Given the description of an element on the screen output the (x, y) to click on. 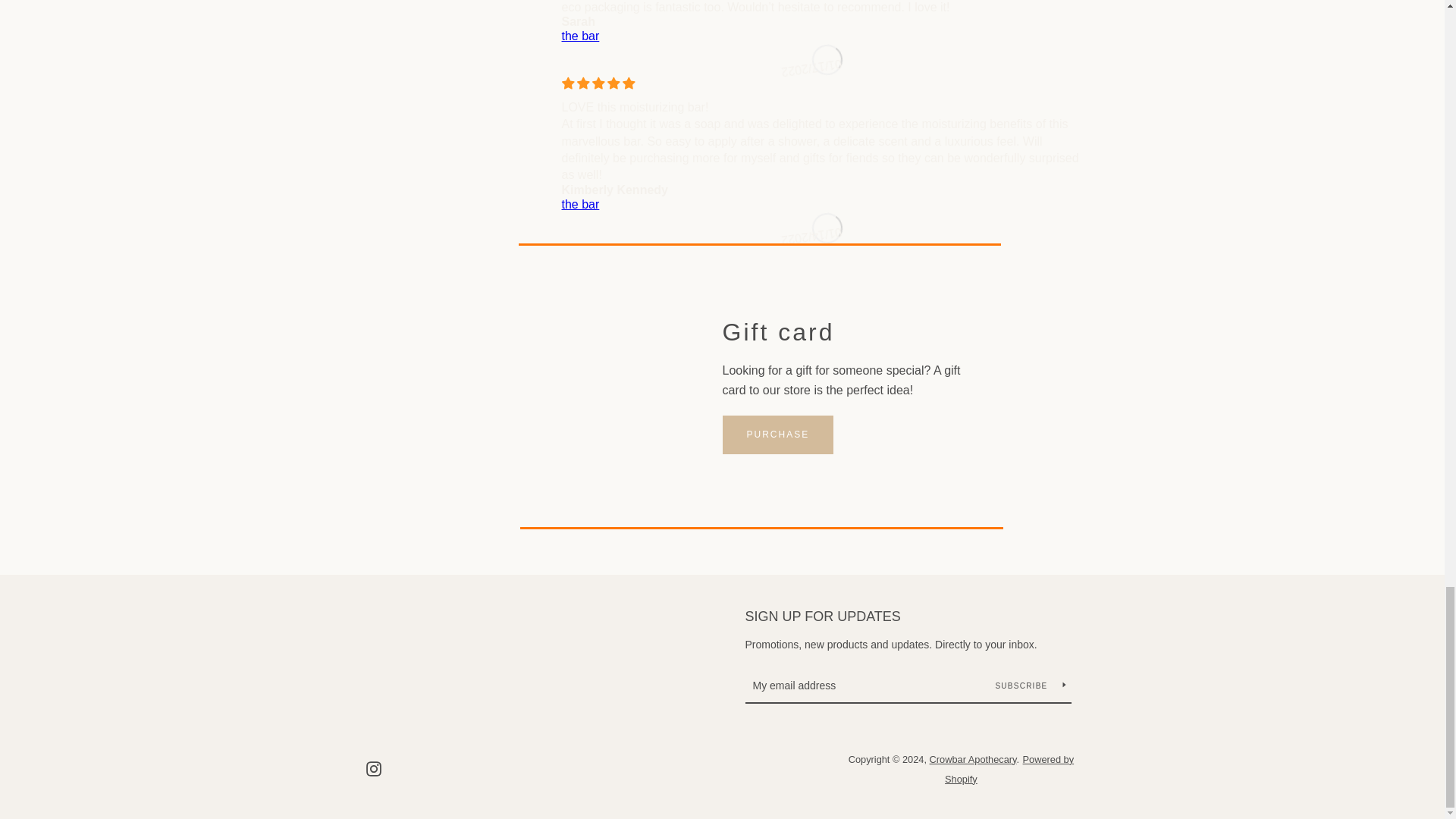
Powered by Shopify (1009, 768)
the bar (826, 204)
Crowbar Apothecary (973, 758)
PURCHASE (777, 434)
the bar (826, 36)
Crowbar Apothecary on Instagram (372, 768)
SUBSCRIBE (1030, 685)
Instagram (372, 768)
